Given the description of an element on the screen output the (x, y) to click on. 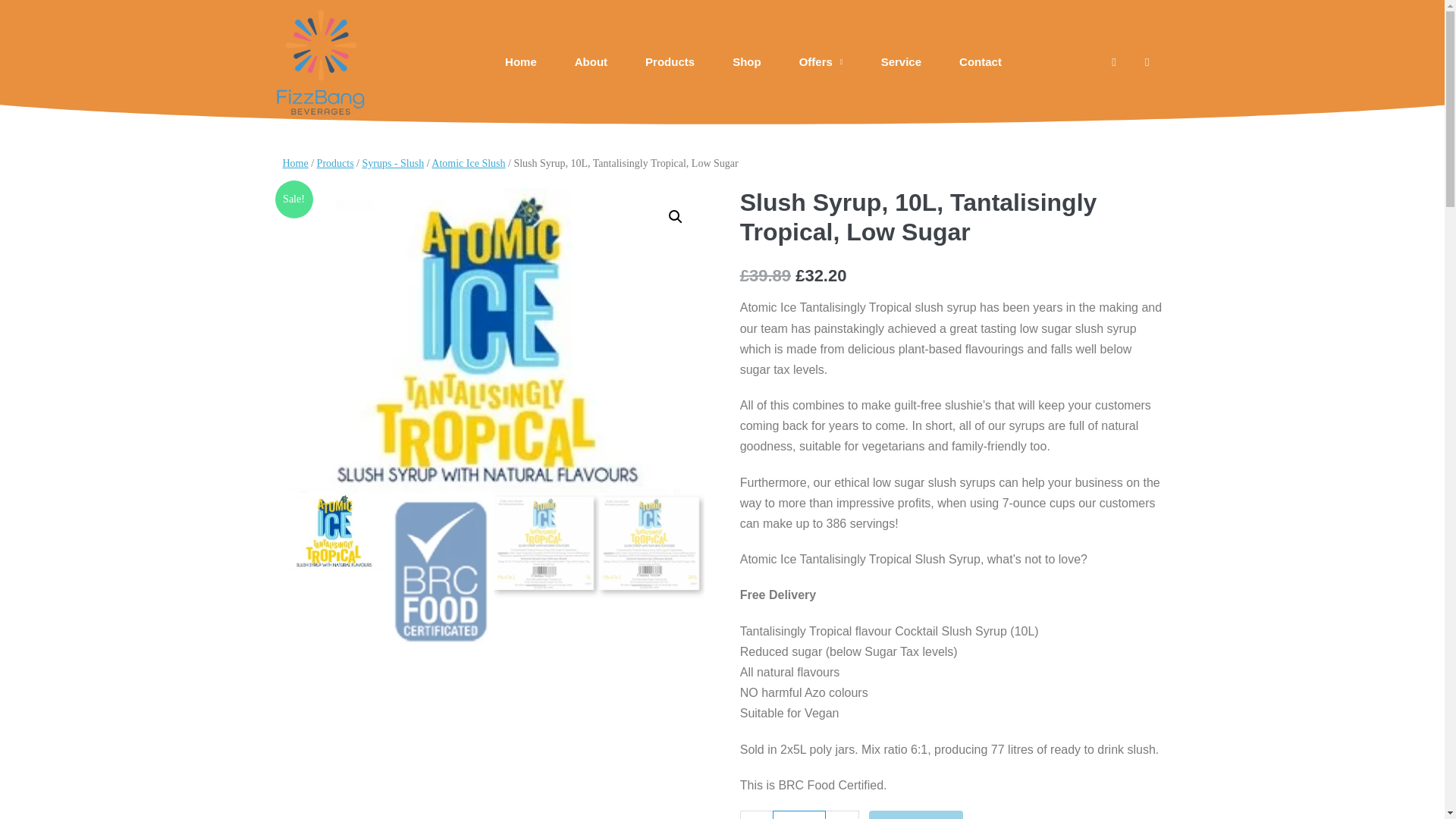
Shop (746, 61)
1 (799, 814)
Products (335, 163)
Home (521, 61)
About (591, 61)
Atomic Ice Slush (467, 163)
Add to cart (915, 814)
Products (669, 61)
Contact (980, 61)
Temp-Label-Atomic-Ice-Tropical.jpg (493, 340)
Offers (821, 61)
Syrups - Slush (393, 163)
Service (900, 61)
Home (294, 163)
